Given the description of an element on the screen output the (x, y) to click on. 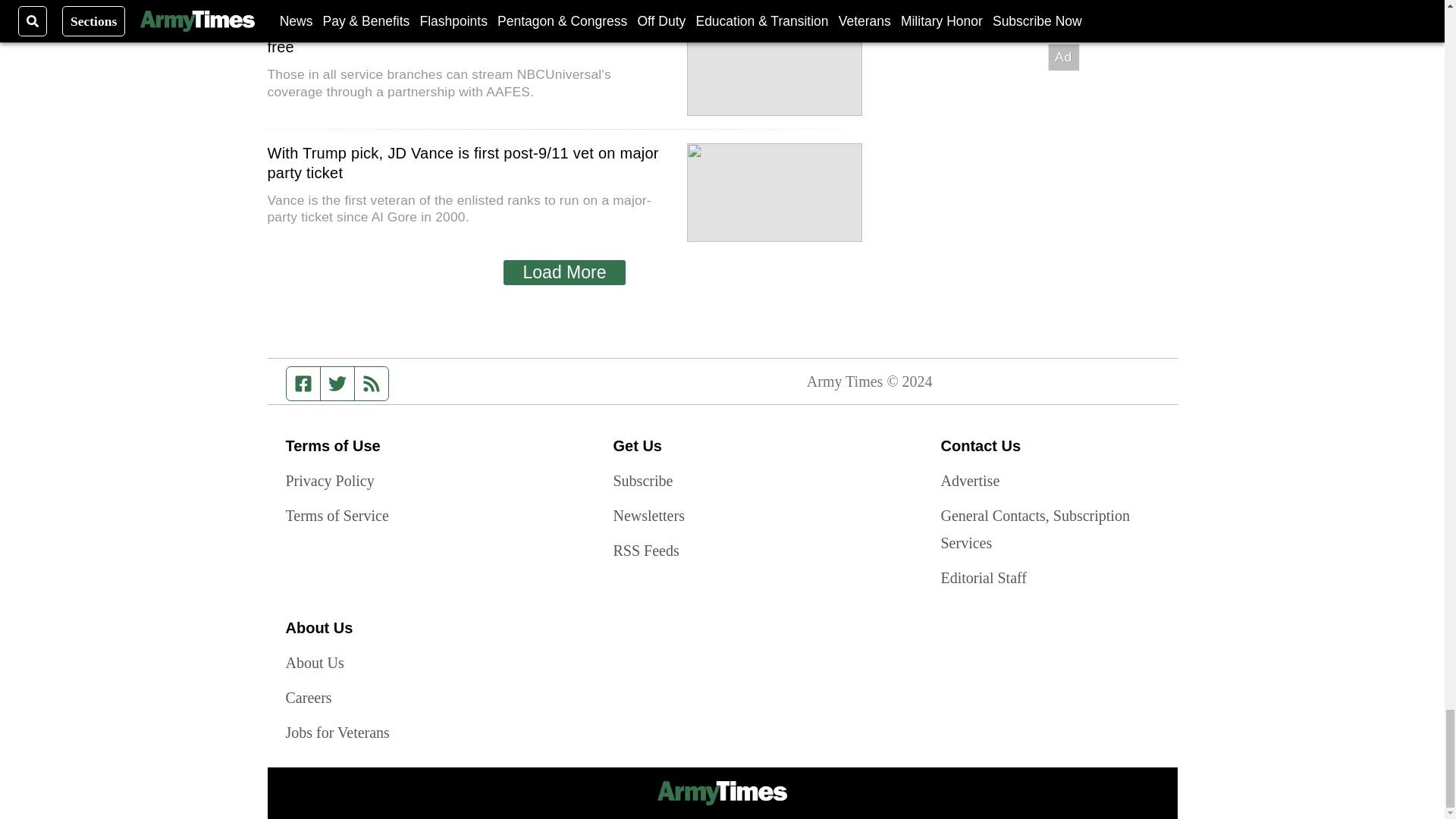
Facebook page (303, 383)
RSS feed (371, 383)
Twitter feed (336, 383)
